Given the description of an element on the screen output the (x, y) to click on. 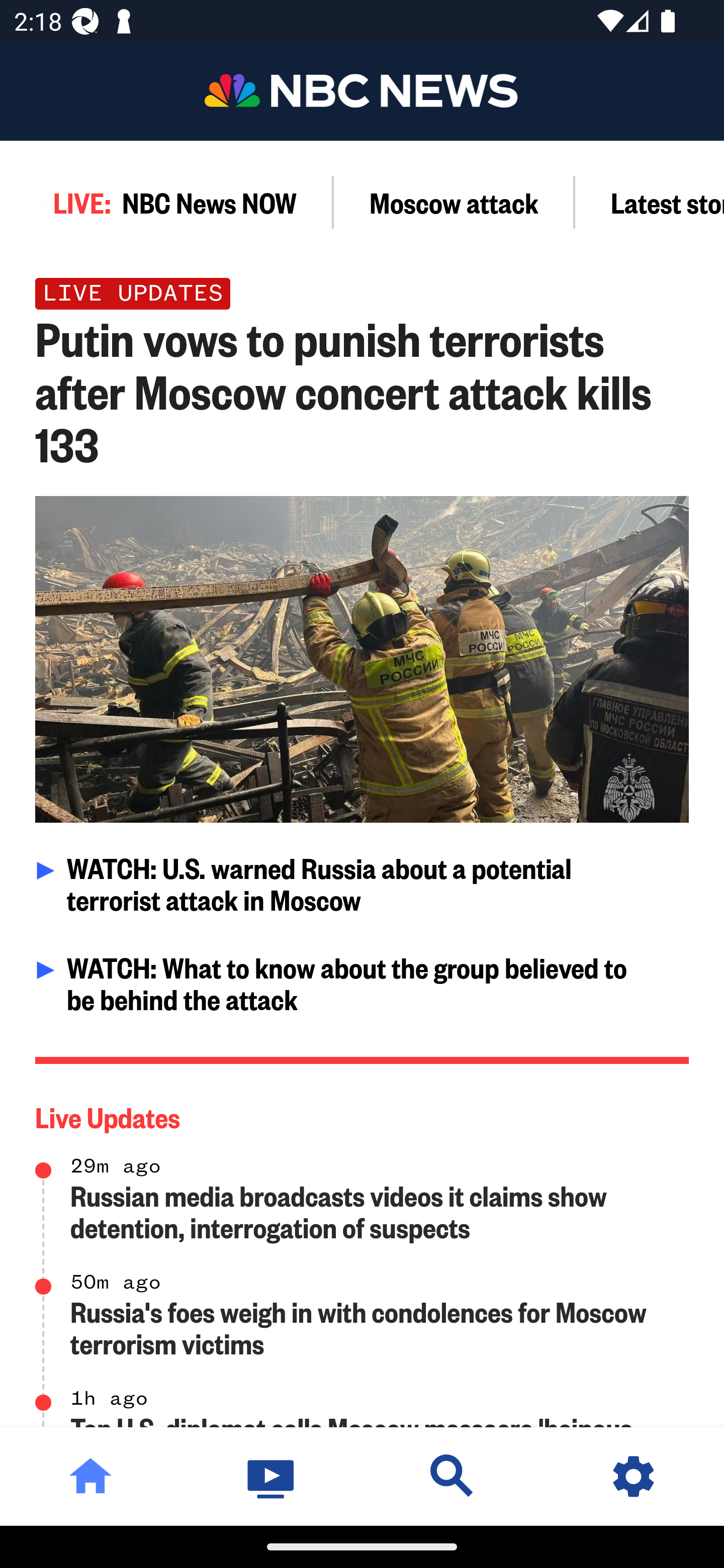
LIVE:  NBC News NOW (166, 202)
Moscow attack (453, 202)
Latest stories Section,Latest stories (649, 202)
Watch (271, 1475)
Discover (452, 1475)
Settings (633, 1475)
